Given the description of an element on the screen output the (x, y) to click on. 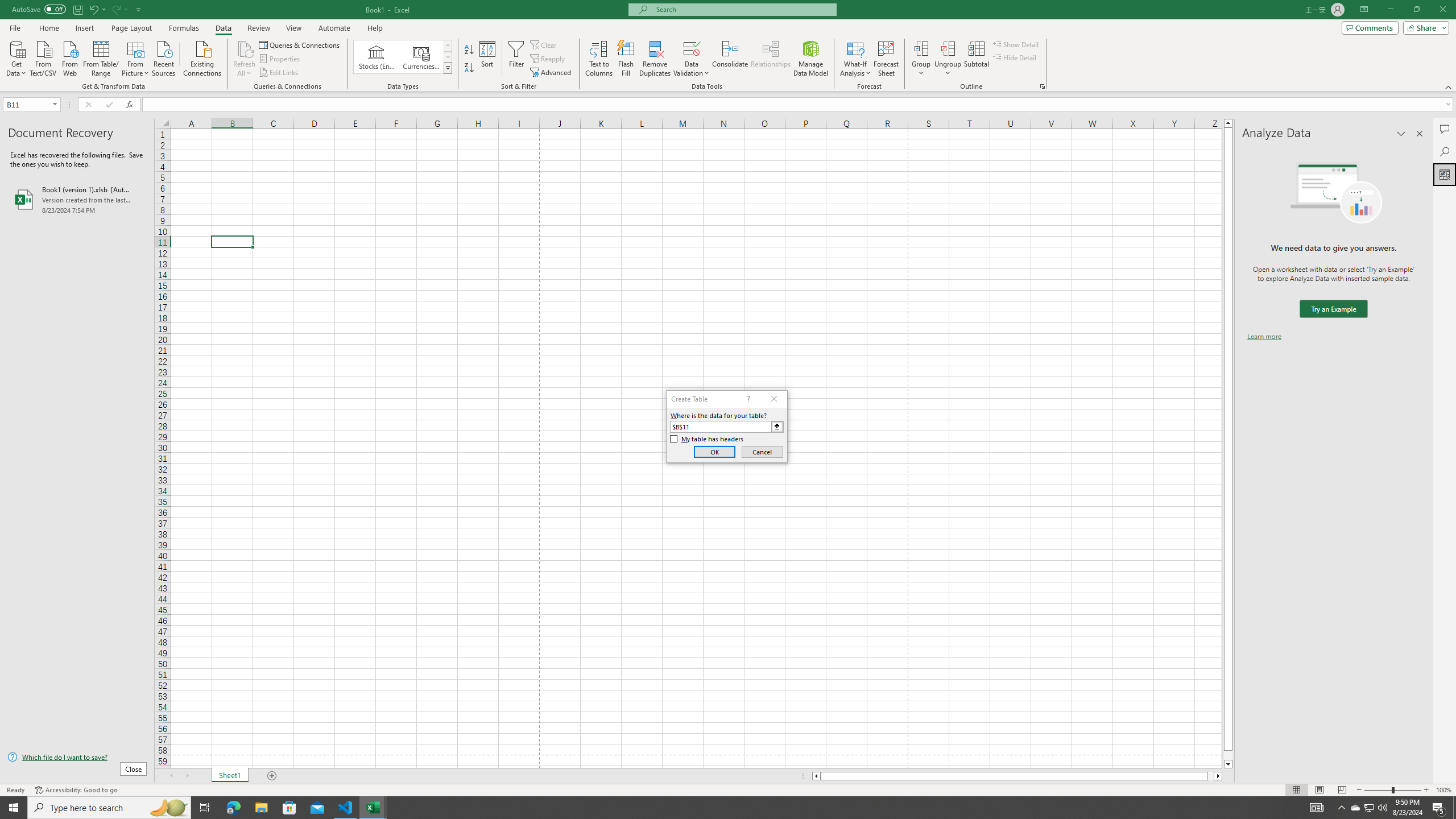
Hide Detail (1014, 56)
Page Layout (131, 28)
We need data to give you answers. Try an Example (1333, 308)
AutomationID: ConvertToLinkedEntity (403, 56)
Microsoft search (742, 9)
Close pane (1419, 133)
Relationships (770, 58)
Existing Connections (202, 57)
AutoSave (38, 9)
Share (1423, 27)
Zoom (1392, 790)
Row Down (448, 56)
Group and Outline Settings (1042, 85)
Review (258, 28)
Show Detail (1016, 44)
